Given the description of an element on the screen output the (x, y) to click on. 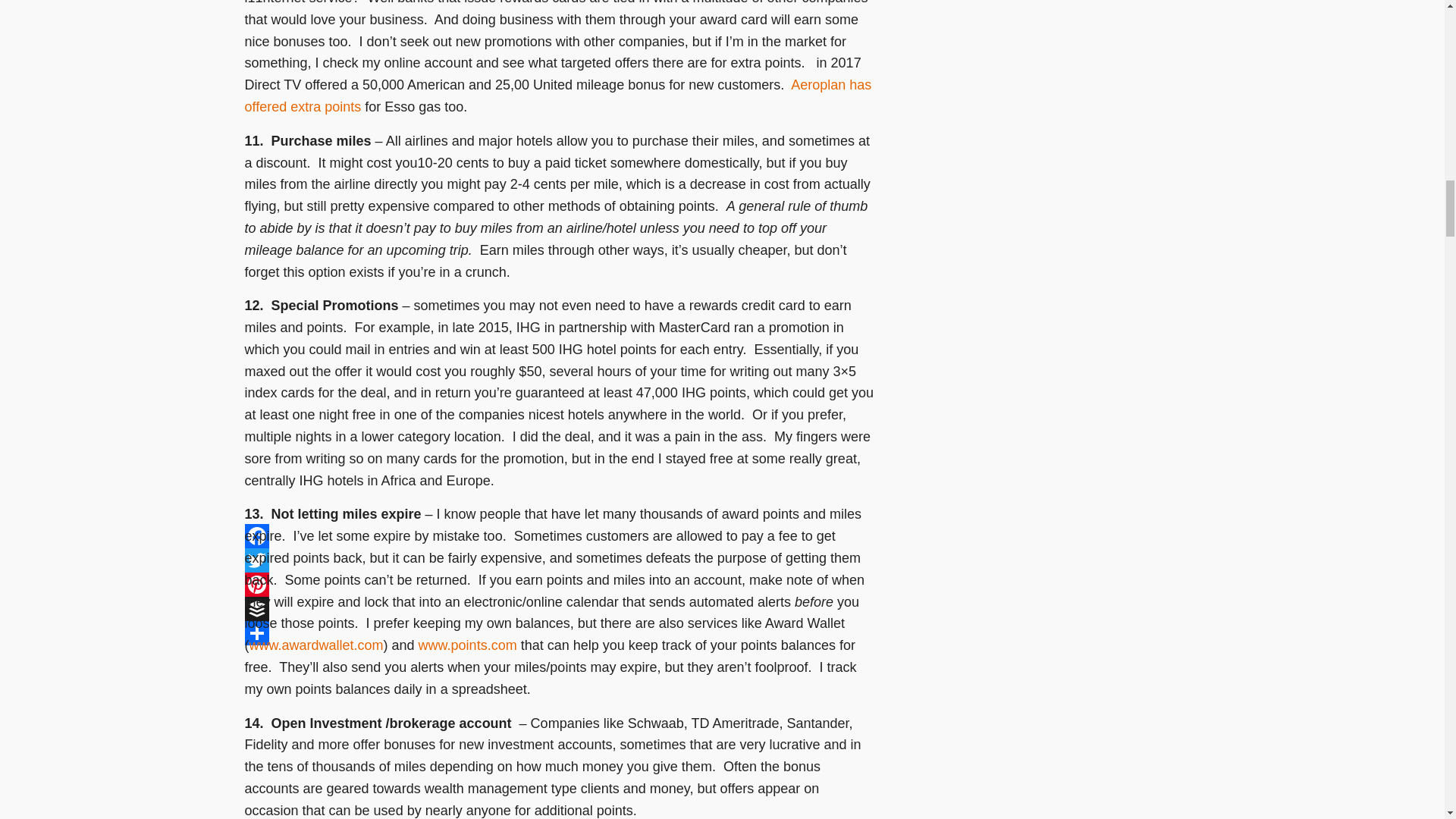
www.awardwallet.com (315, 645)
Aeroplan has offered extra points (557, 95)
www.points.com (467, 645)
